Given the description of an element on the screen output the (x, y) to click on. 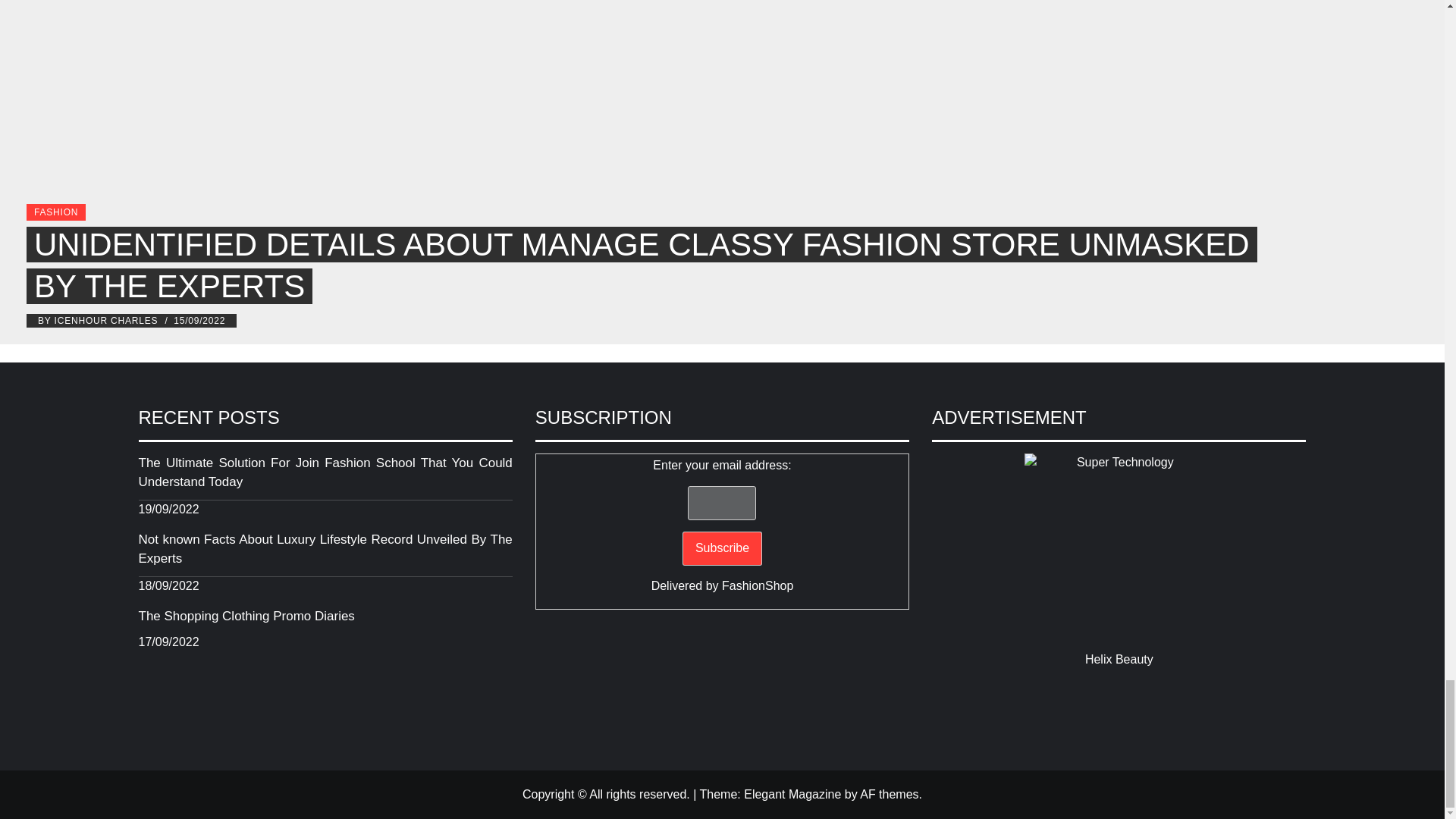
Super Technology (1119, 547)
Subscribe (721, 548)
